Given the description of an element on the screen output the (x, y) to click on. 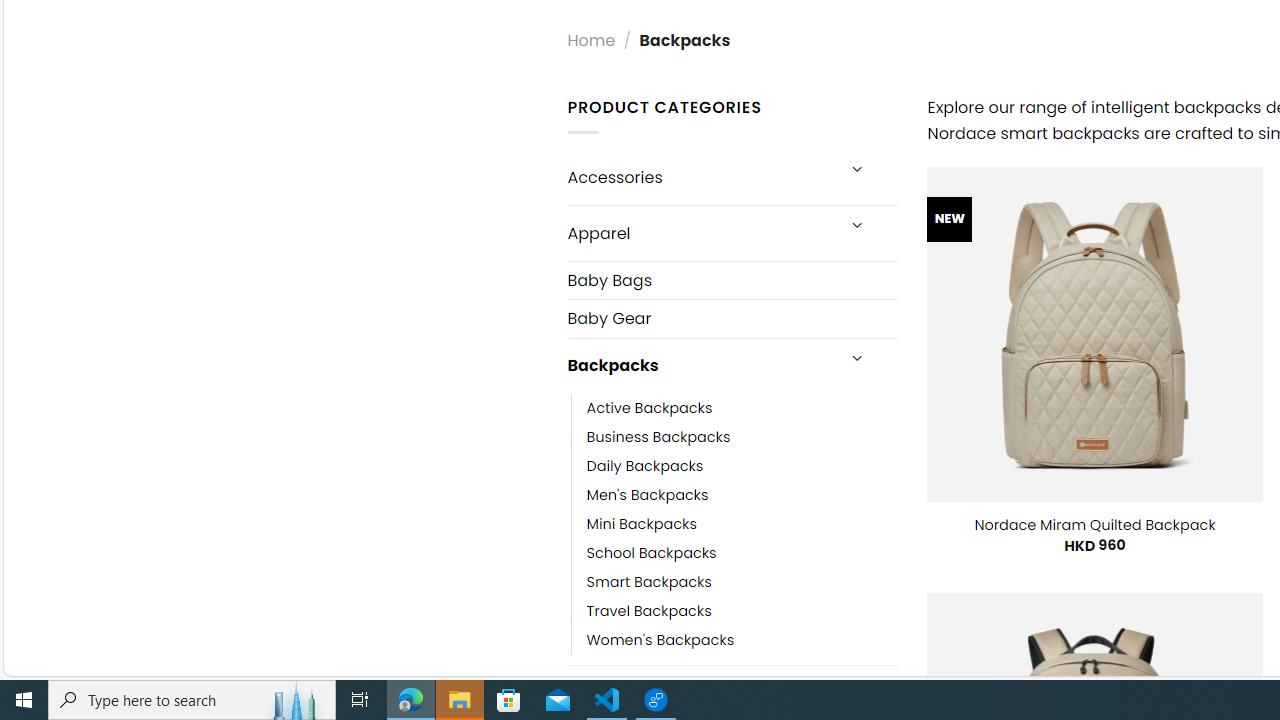
Mini Backpacks (742, 524)
School Backpacks (742, 552)
Backpacks (700, 366)
Travel Backpacks (742, 610)
Accessories (700, 177)
Women's Backpacks (742, 639)
Active Backpacks (649, 408)
Business Backpacks (658, 436)
Travel Backpacks (648, 610)
Smart Backpacks (742, 581)
Baby Gear (732, 317)
